Given the description of an element on the screen output the (x, y) to click on. 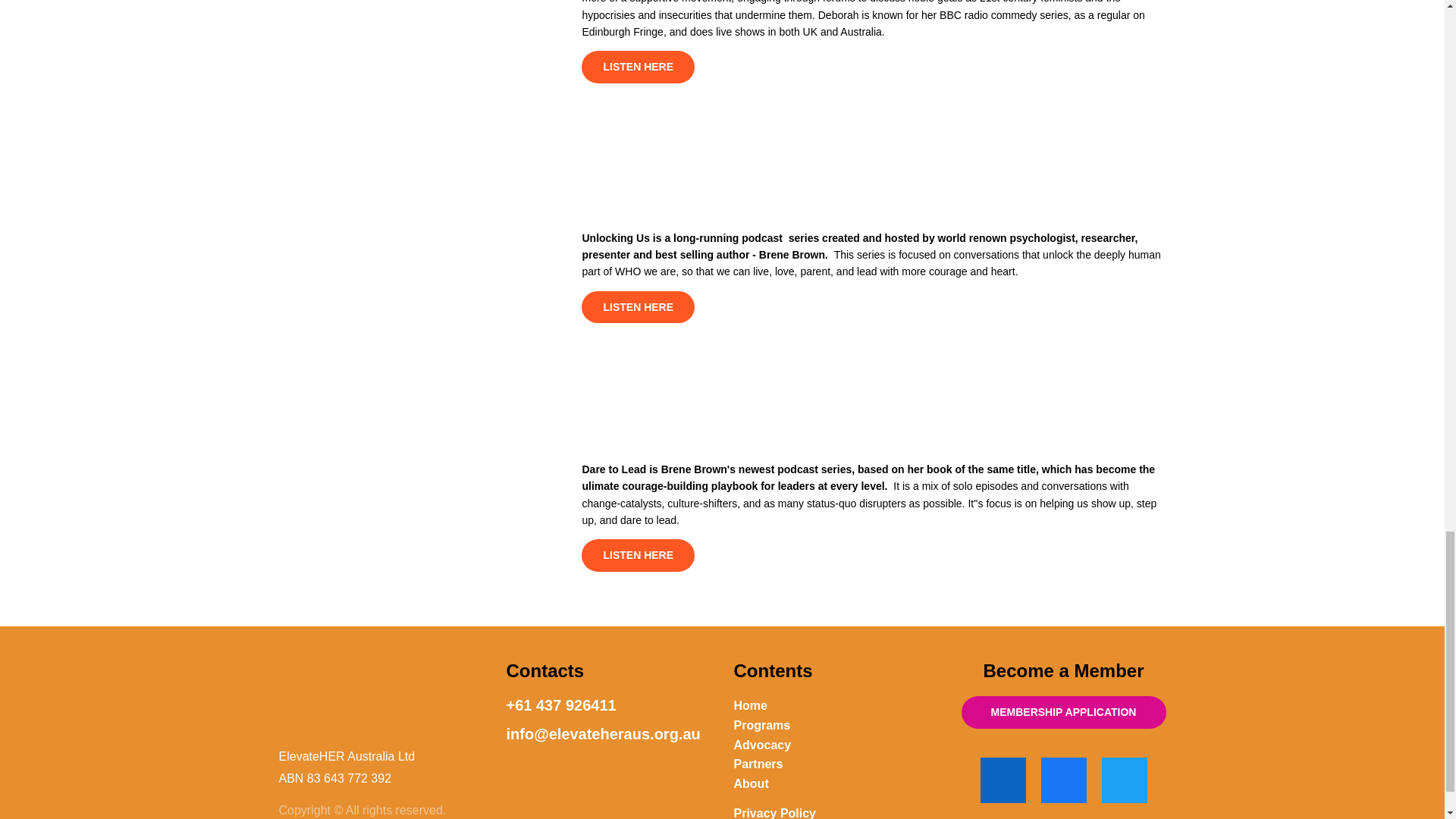
Programs (761, 725)
Partners (758, 764)
Advocacy (762, 745)
Privacy Policy (774, 812)
LISTEN HERE (637, 307)
Home (750, 705)
LISTEN HERE (637, 554)
LISTEN HERE (637, 66)
MEMBERSHIP APPLICATION (1063, 712)
About (750, 784)
